Given the description of an element on the screen output the (x, y) to click on. 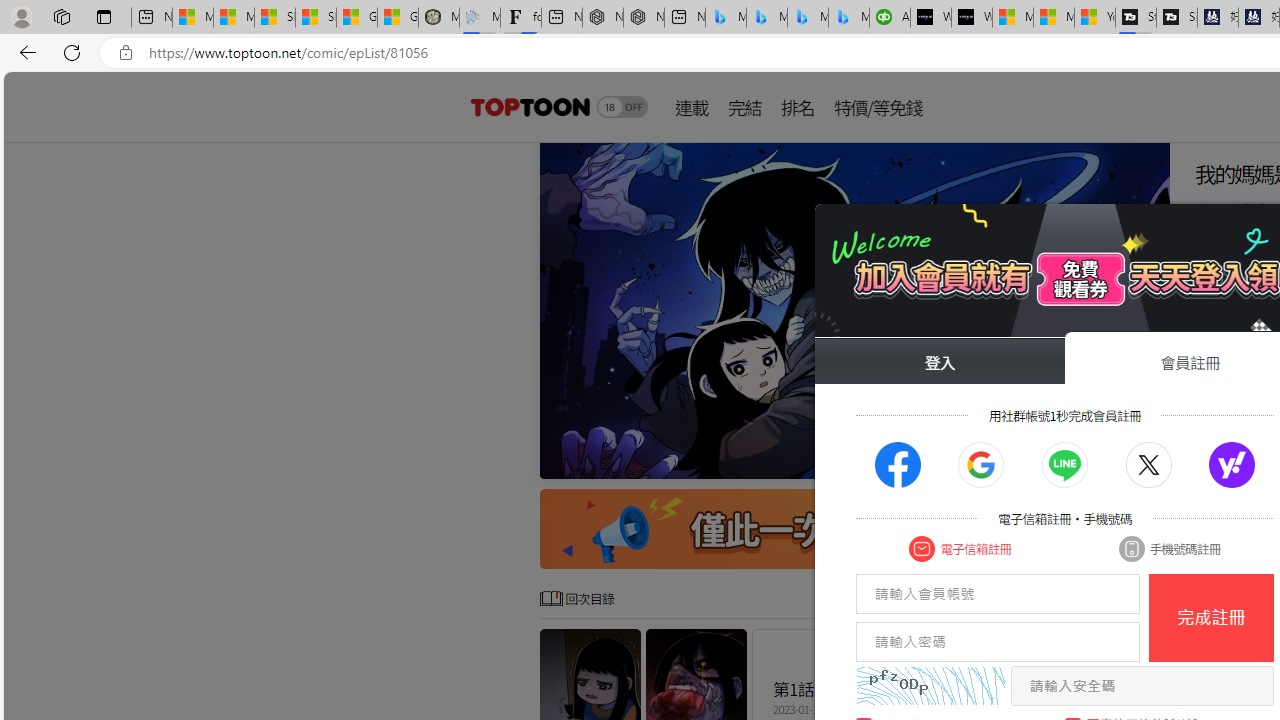
Go to slide 1 (1002, 461)
captcha (930, 686)
Go to slide 6 (1082, 461)
Class: swiper-slide swiper-slide-prev (854, 310)
Nordace - #1 Japanese Best-Seller - Siena Smart Backpack (643, 17)
Class:  switch_18mode actionAdultBtn (621, 106)
What's the best AI voice generator? - voice.ai (971, 17)
Go to slide 3 (1034, 461)
Microsoft Bing Travel - Stays in Bangkok, Bangkok, Thailand (767, 17)
